Given the description of an element on the screen output the (x, y) to click on. 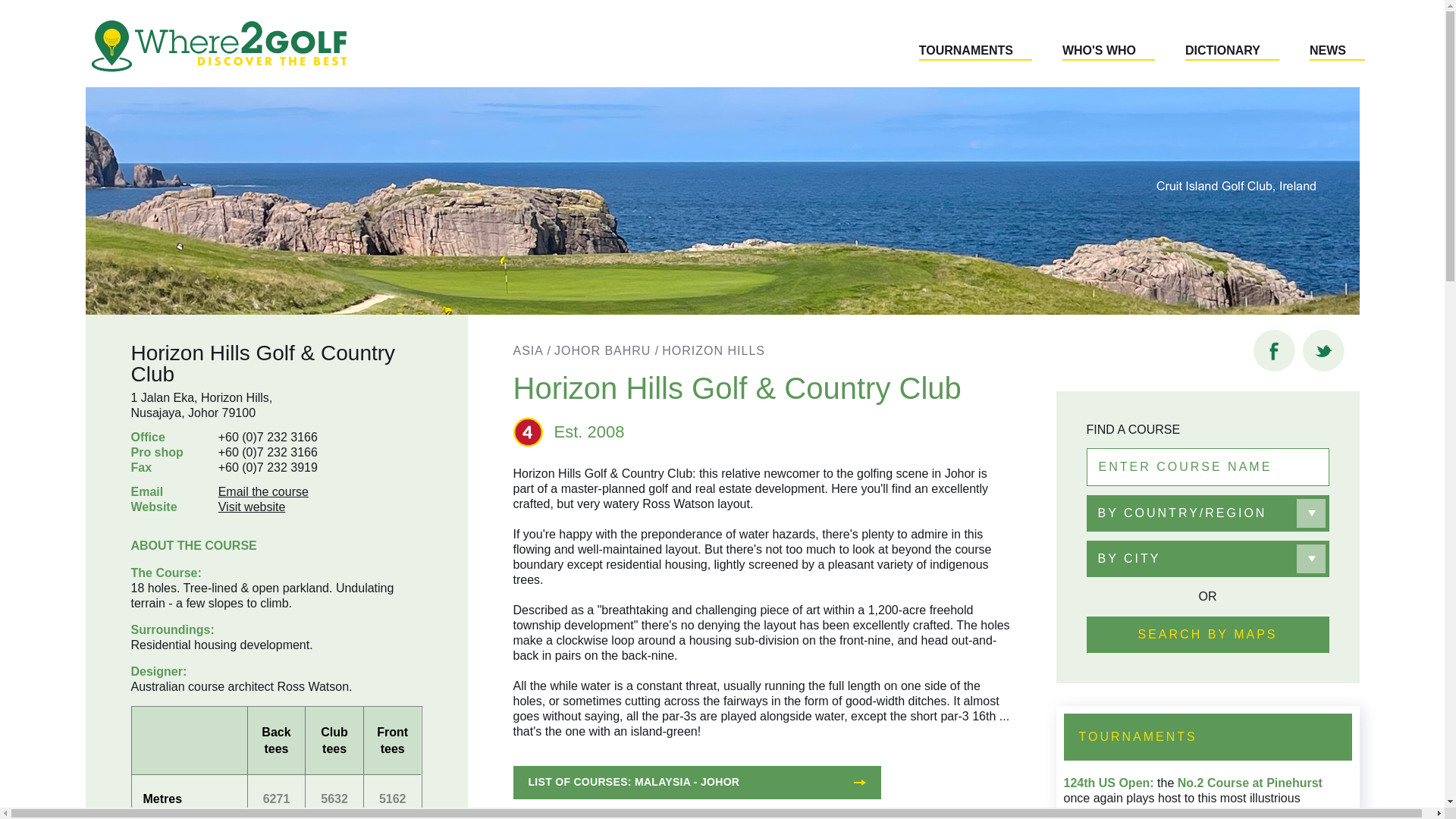
DICTIONARY (1232, 52)
NEWS (1336, 52)
BY CITY (1206, 558)
Email the course (263, 491)
TOURNAMENTS (975, 52)
WHO'S WHO (1108, 52)
Visit website (251, 506)
LIST OF COURSES: MALAYSIA - JOHOR (696, 782)
MAP OF COURSES: MALAYSIA - JOHOR (696, 816)
